Given the description of an element on the screen output the (x, y) to click on. 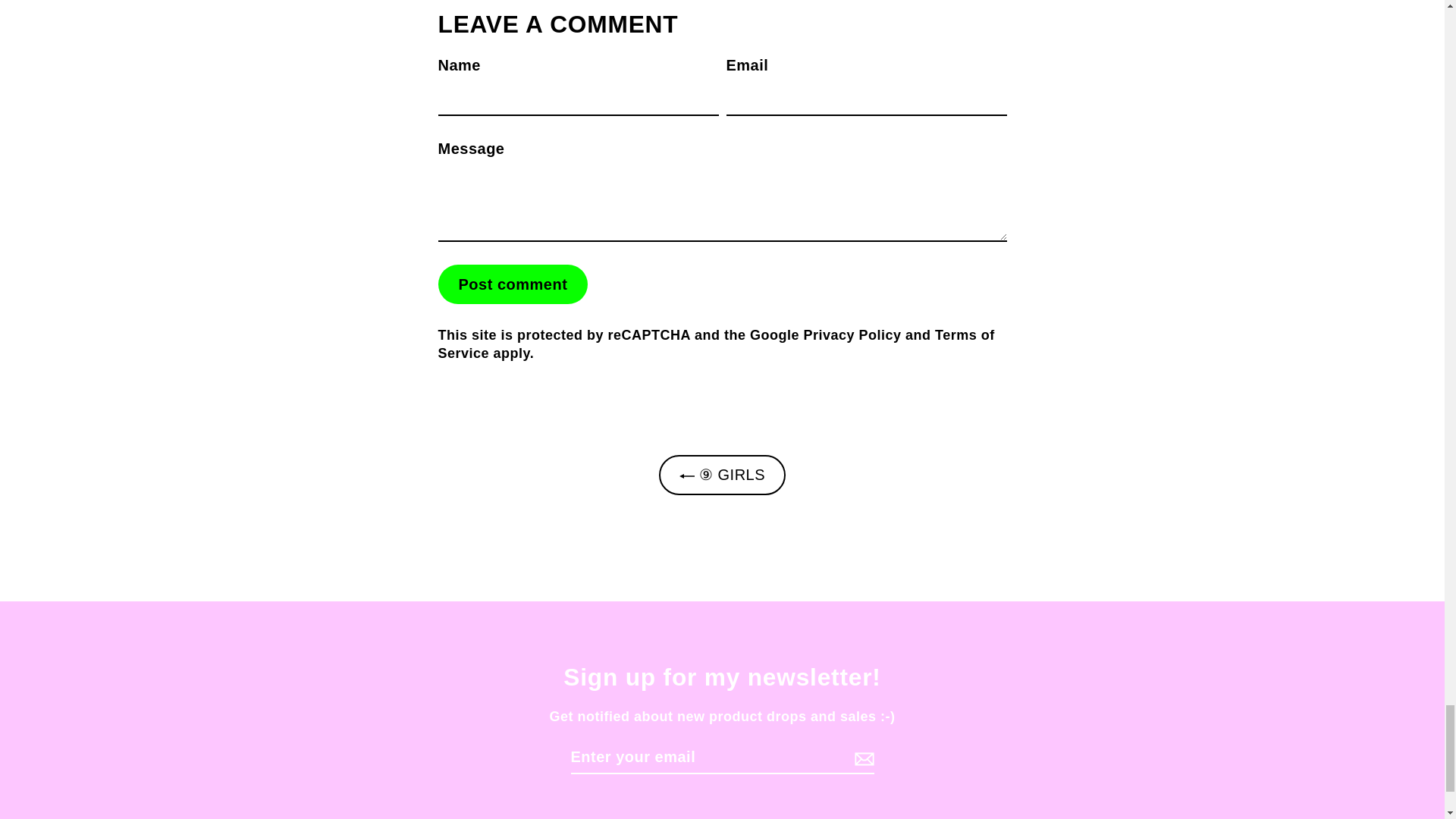
Post comment (513, 283)
